Given the description of an element on the screen output the (x, y) to click on. 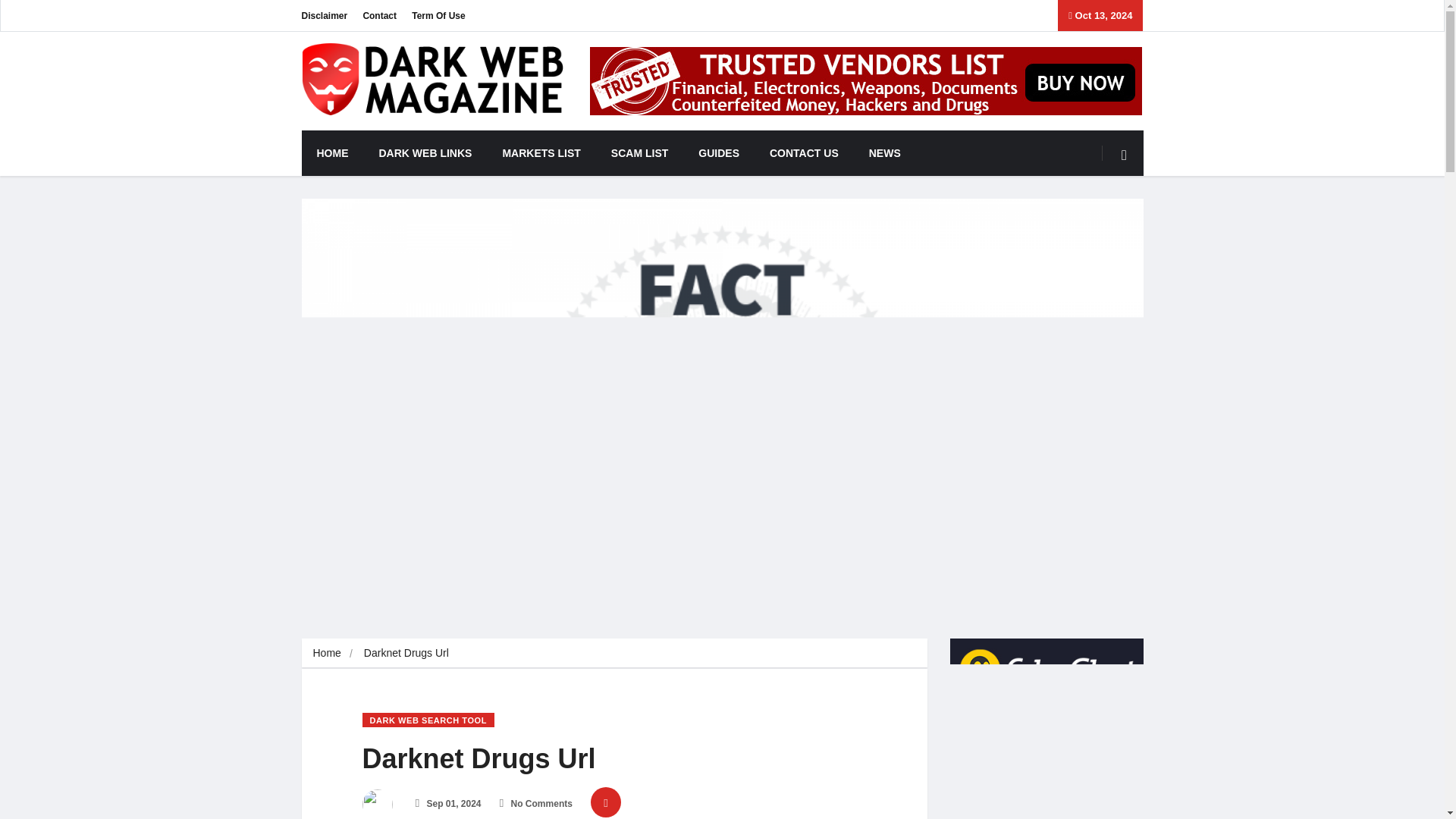
Disclaimer (324, 15)
MARKETS LIST (540, 153)
HOME (332, 153)
SCAM LIST (638, 153)
DARK WEB LINKS (425, 153)
Home (326, 653)
CONTACT US (803, 153)
DARK WEB SEARCH TOOL (428, 719)
GUIDES (718, 153)
Contact (379, 15)
